Given the description of an element on the screen output the (x, y) to click on. 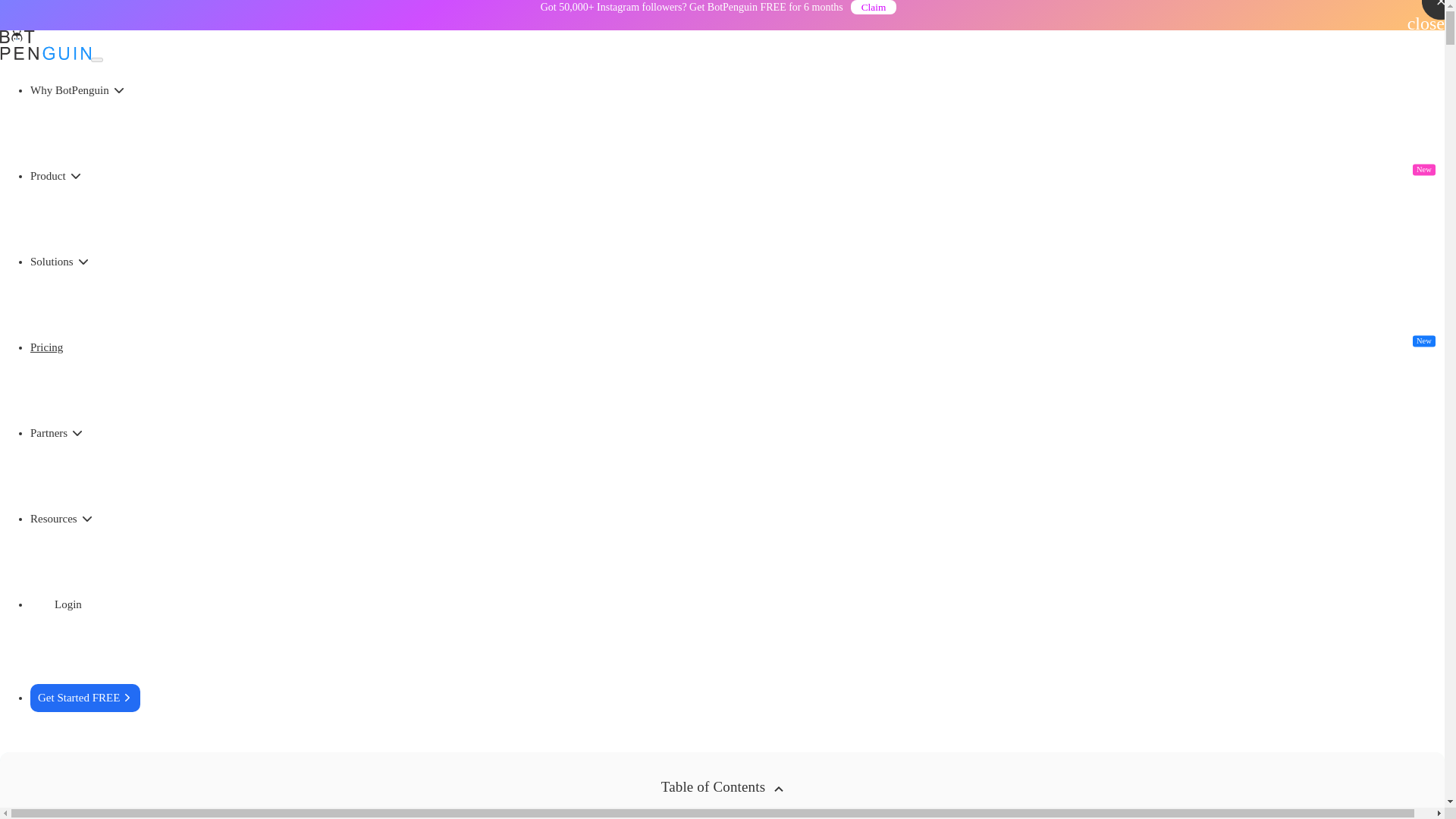
Blogs (51, 132)
Claim (874, 7)
